Given the description of an element on the screen output the (x, y) to click on. 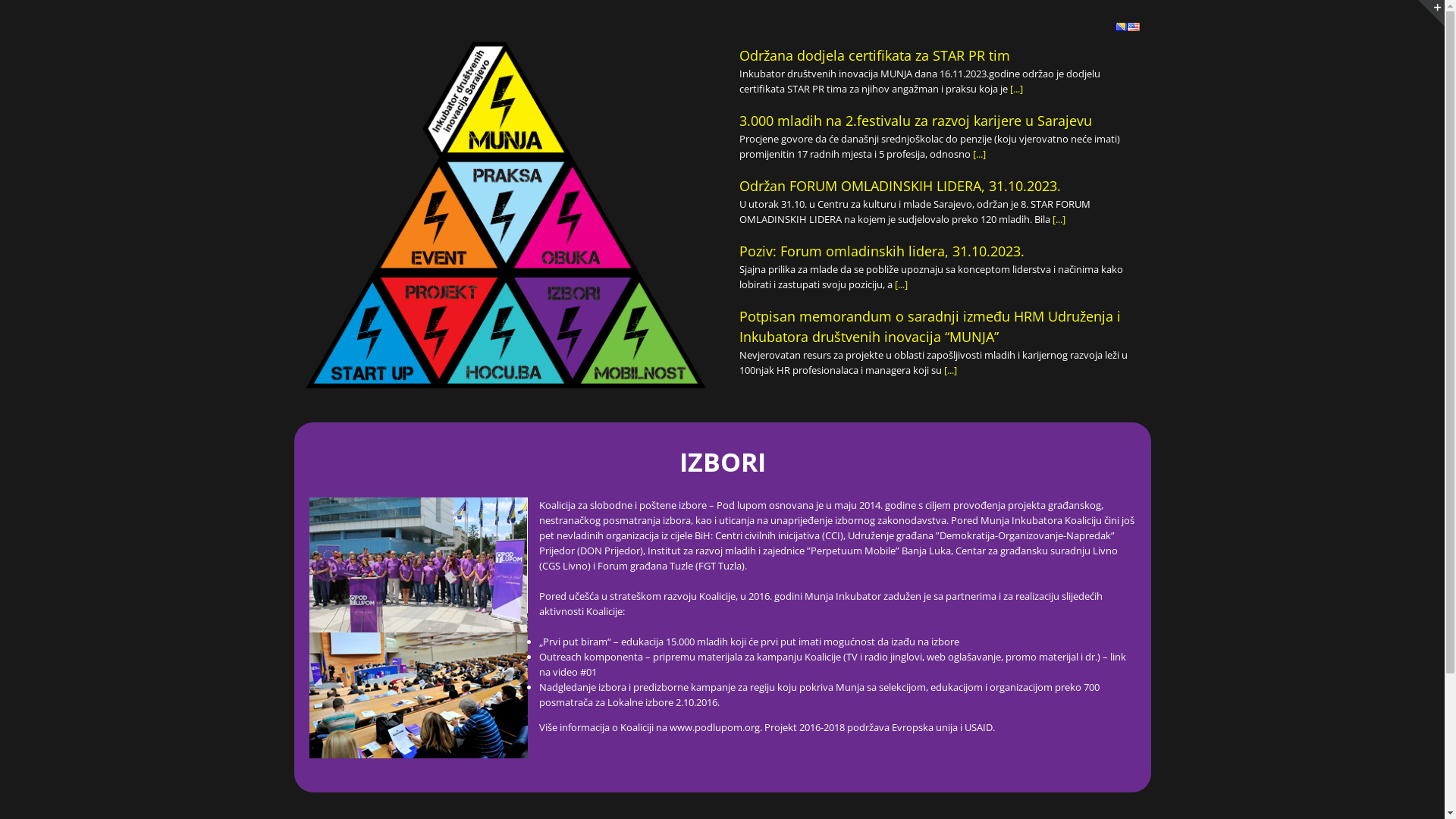
[...] Element type: text (1016, 88)
[...] Element type: text (1058, 218)
[...] Element type: text (900, 284)
FGT Tuzla Element type: text (718, 565)
CGS Livno Element type: text (563, 565)
[...] Element type: text (949, 369)
Poziv: Forum omladinskih lidera, 31.10.2023. Element type: text (880, 250)
www.podlupom.org Element type: text (713, 727)
CCI Element type: text (832, 535)
[...] Element type: text (978, 153)
DON Prijedor Element type: text (609, 550)
3.000 mladih na 2.festivalu za razvoj karijere u Sarajevu Element type: text (914, 120)
